Given the description of an element on the screen output the (x, y) to click on. 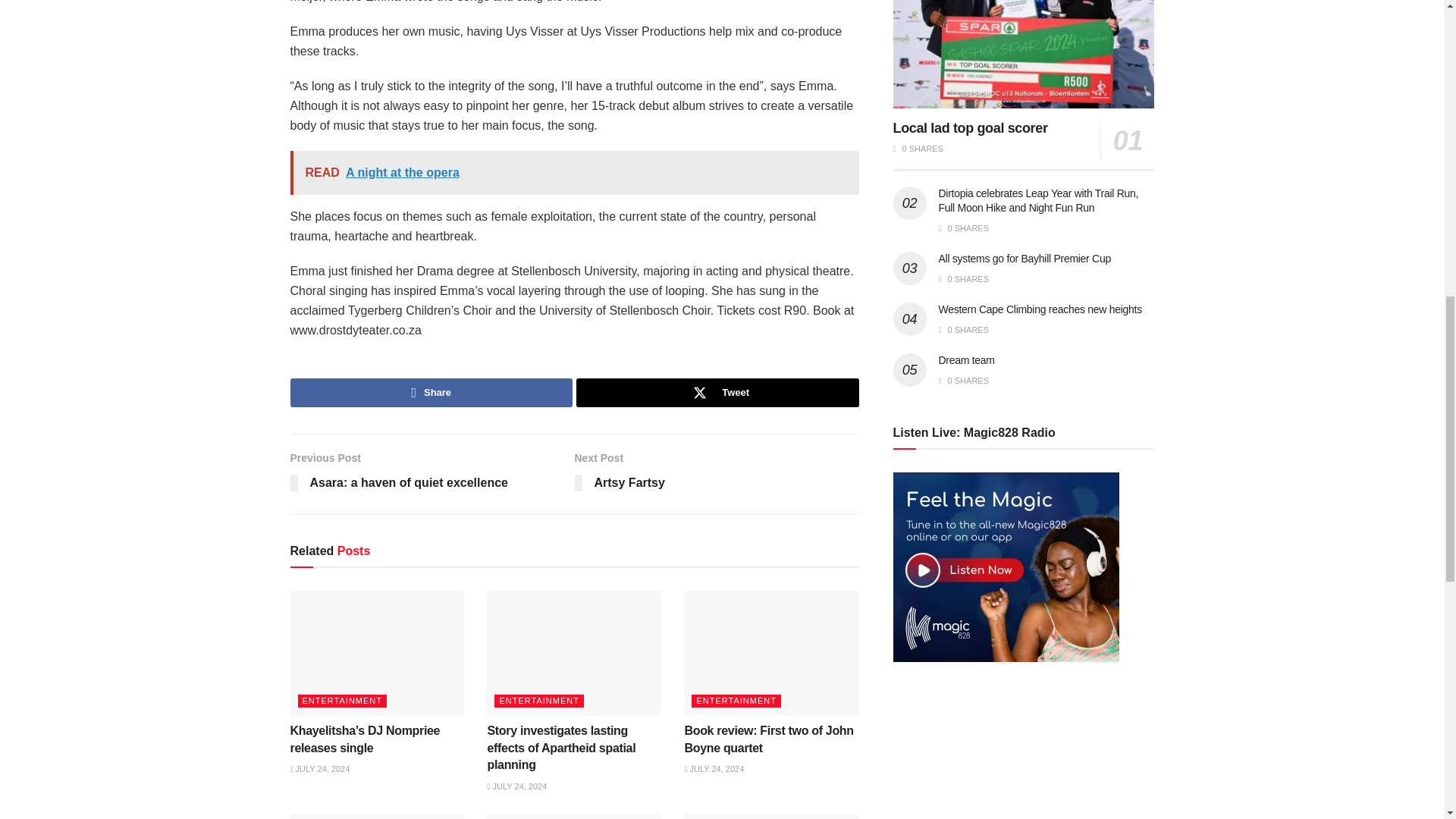
READ  A night at the opera (431, 473)
Tweet (574, 172)
Share (717, 392)
